Given the description of an element on the screen output the (x, y) to click on. 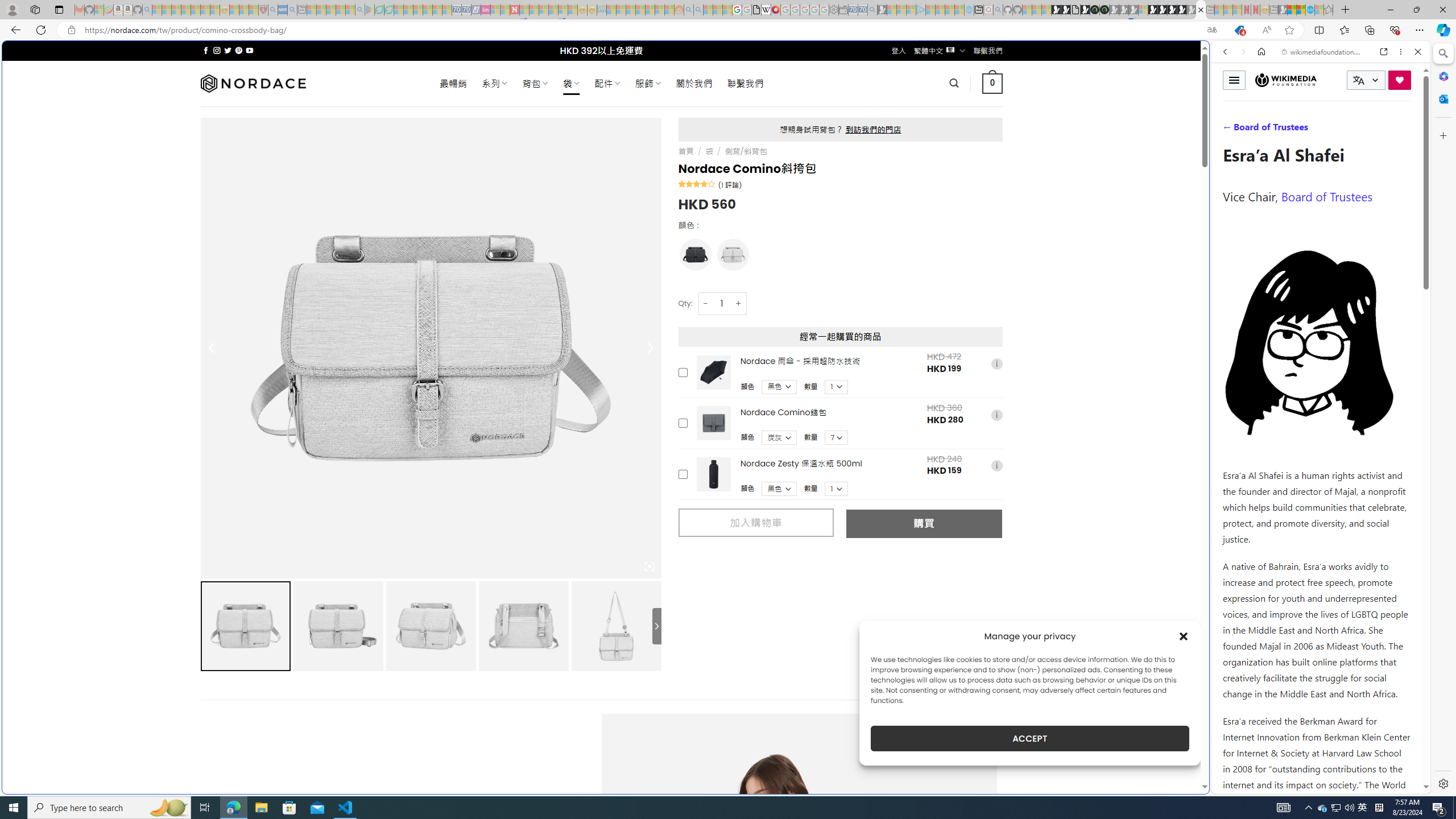
Donate now (1399, 80)
Search or enter web address (922, 108)
google - Search - Sleeping (359, 9)
